Given the description of an element on the screen output the (x, y) to click on. 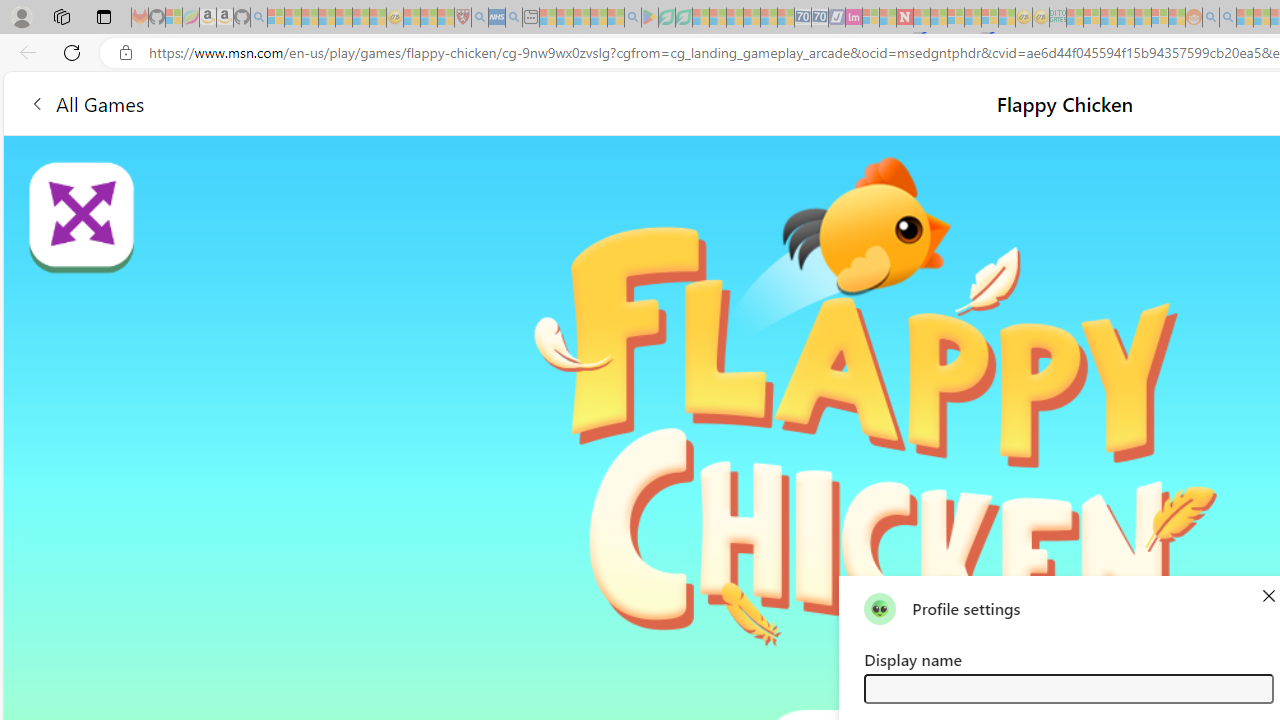
Kinda Frugal - MSN - Sleeping (1142, 17)
Terms of Use Agreement - Sleeping (666, 17)
Class: text-input (1068, 688)
